Given the description of an element on the screen output the (x, y) to click on. 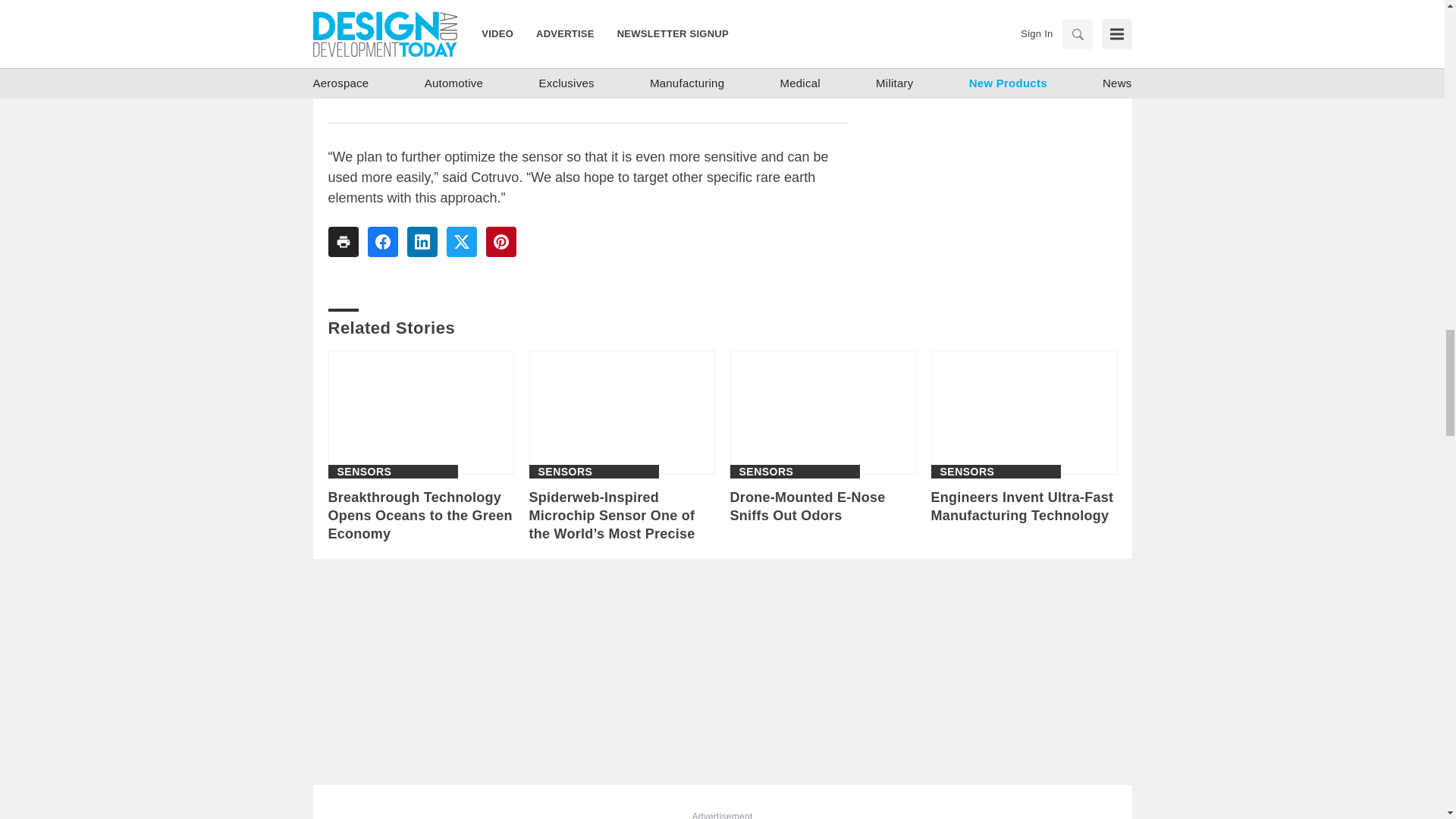
Share To linkedin (421, 241)
Share To twitter (460, 241)
Share To pinterest (499, 241)
Share To print (342, 241)
Share To facebook (381, 241)
